Given the description of an element on the screen output the (x, y) to click on. 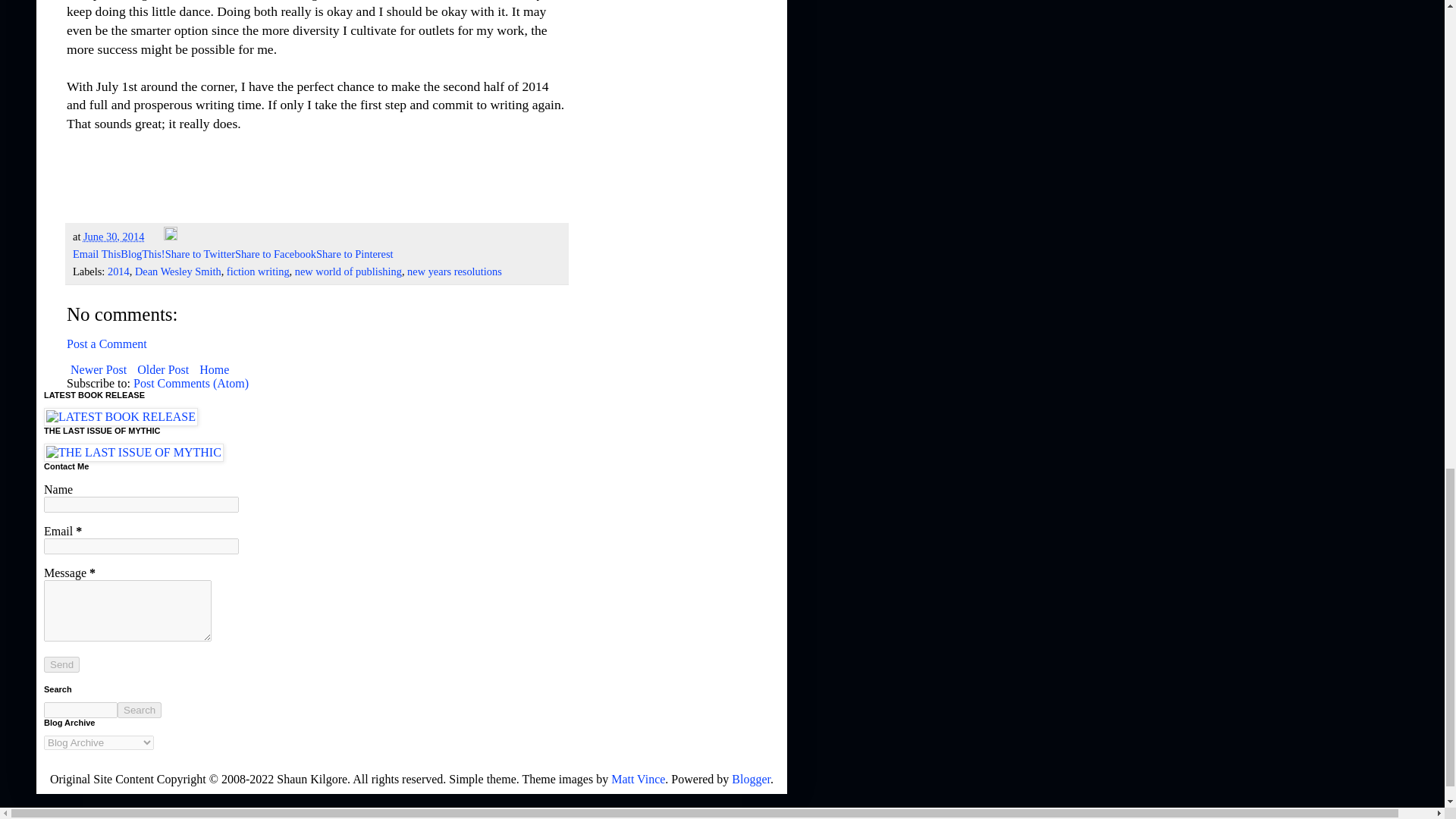
BlogThis! (142, 254)
Newer Post (98, 369)
Share to Pinterest (354, 254)
Dean Wesley Smith (178, 271)
new years resolutions (454, 271)
Edit Post (170, 236)
fiction writing (258, 271)
permanent link (113, 236)
Email Post (155, 236)
Share to Pinterest (354, 254)
